Given the description of an element on the screen output the (x, y) to click on. 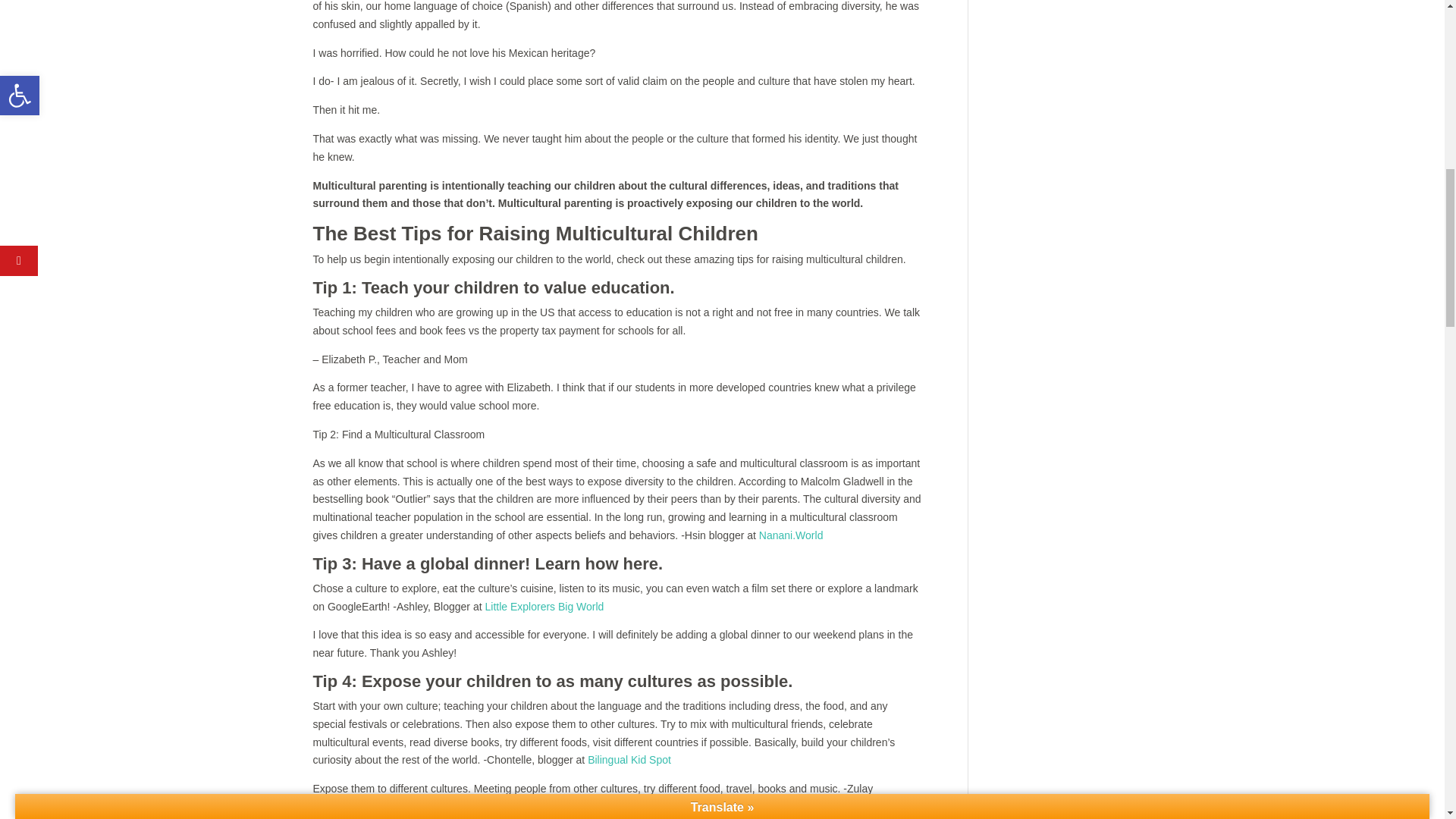
Bilingual Kid Spot (629, 759)
here (640, 563)
Little Explorers Big World (544, 606)
Paper Flo Designs (863, 815)
Nanani.World (791, 535)
